Given the description of an element on the screen output the (x, y) to click on. 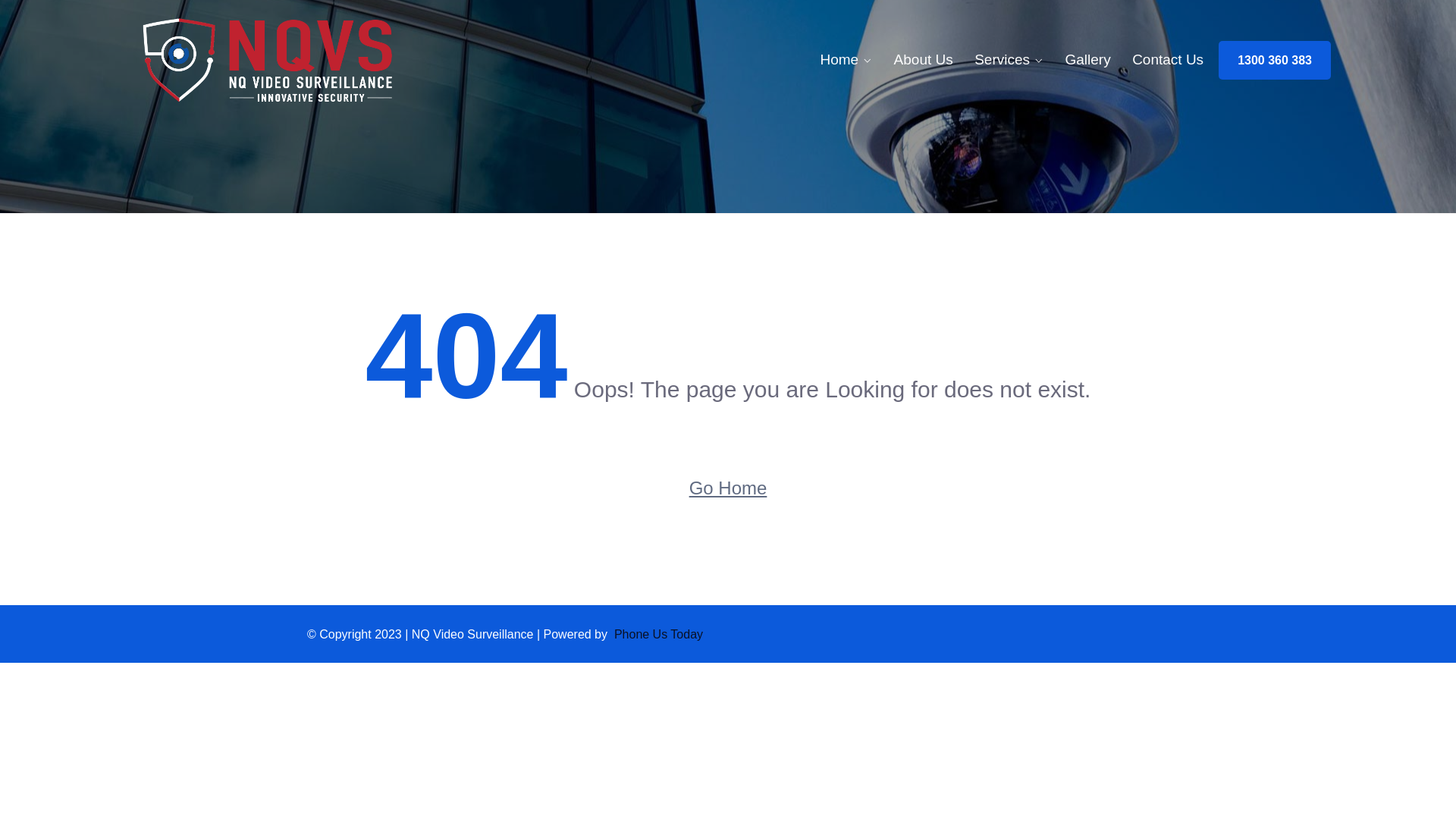
NQ Video Surveillance Element type: hover (267, 60)
1300 360 383 Element type: text (1274, 60)
Contact Us Element type: text (1167, 59)
Home Element type: text (845, 59)
Phone Us Today  Element type: text (660, 633)
Services Element type: text (1008, 59)
Go Home Element type: text (728, 487)
About Us Element type: text (923, 59)
Gallery Element type: text (1087, 59)
